Given the description of an element on the screen output the (x, y) to click on. 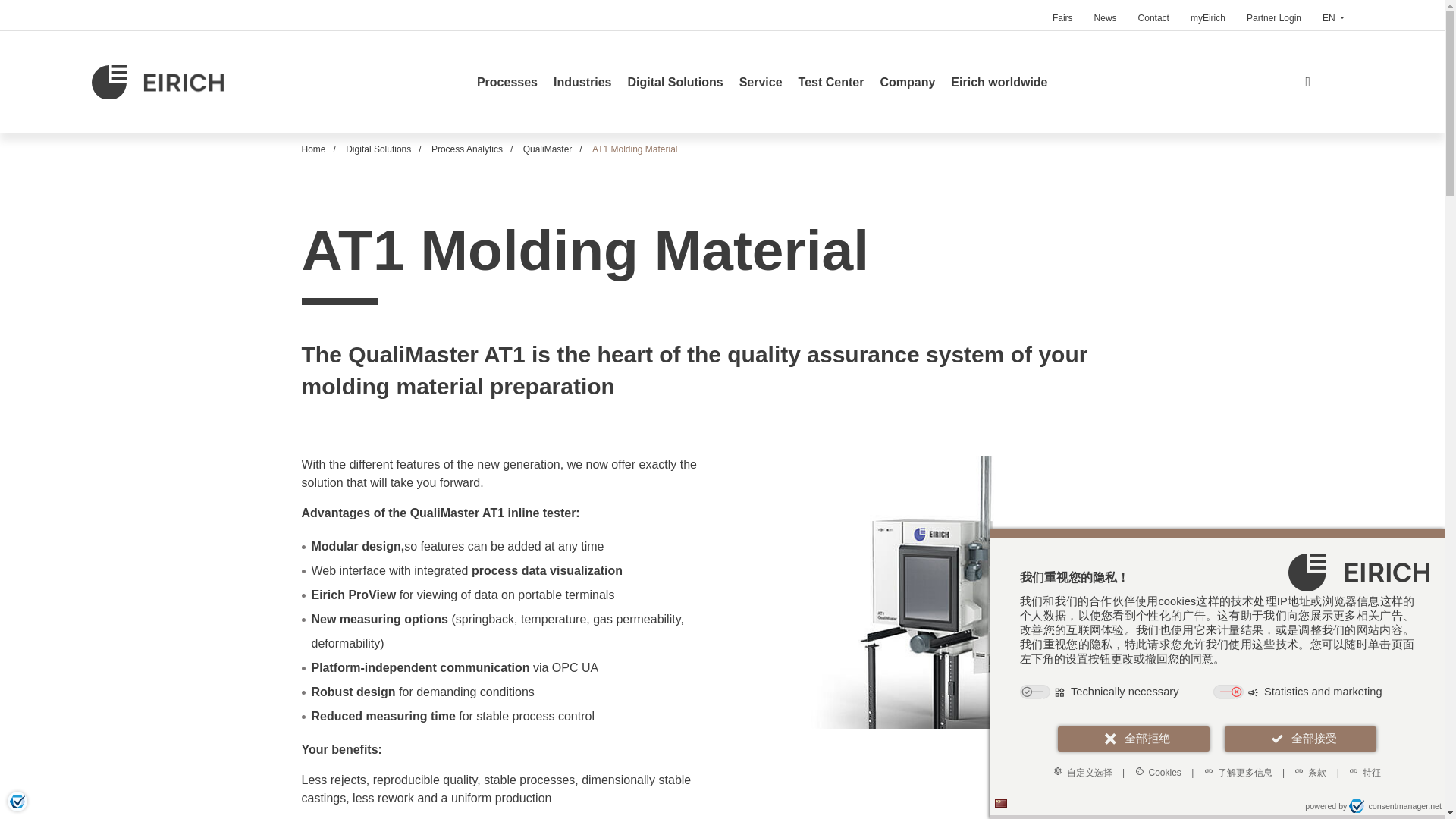
News (1104, 15)
EN (1333, 15)
Fairs (1062, 15)
Contact (1152, 15)
myEirich (1207, 15)
consentmanager.net (1395, 806)
Partner Login (1273, 15)
Cookies (1157, 771)
Processes (507, 82)
Industries (582, 82)
Language: zh (1000, 803)
Language: zh (1000, 803)
